Given the description of an element on the screen output the (x, y) to click on. 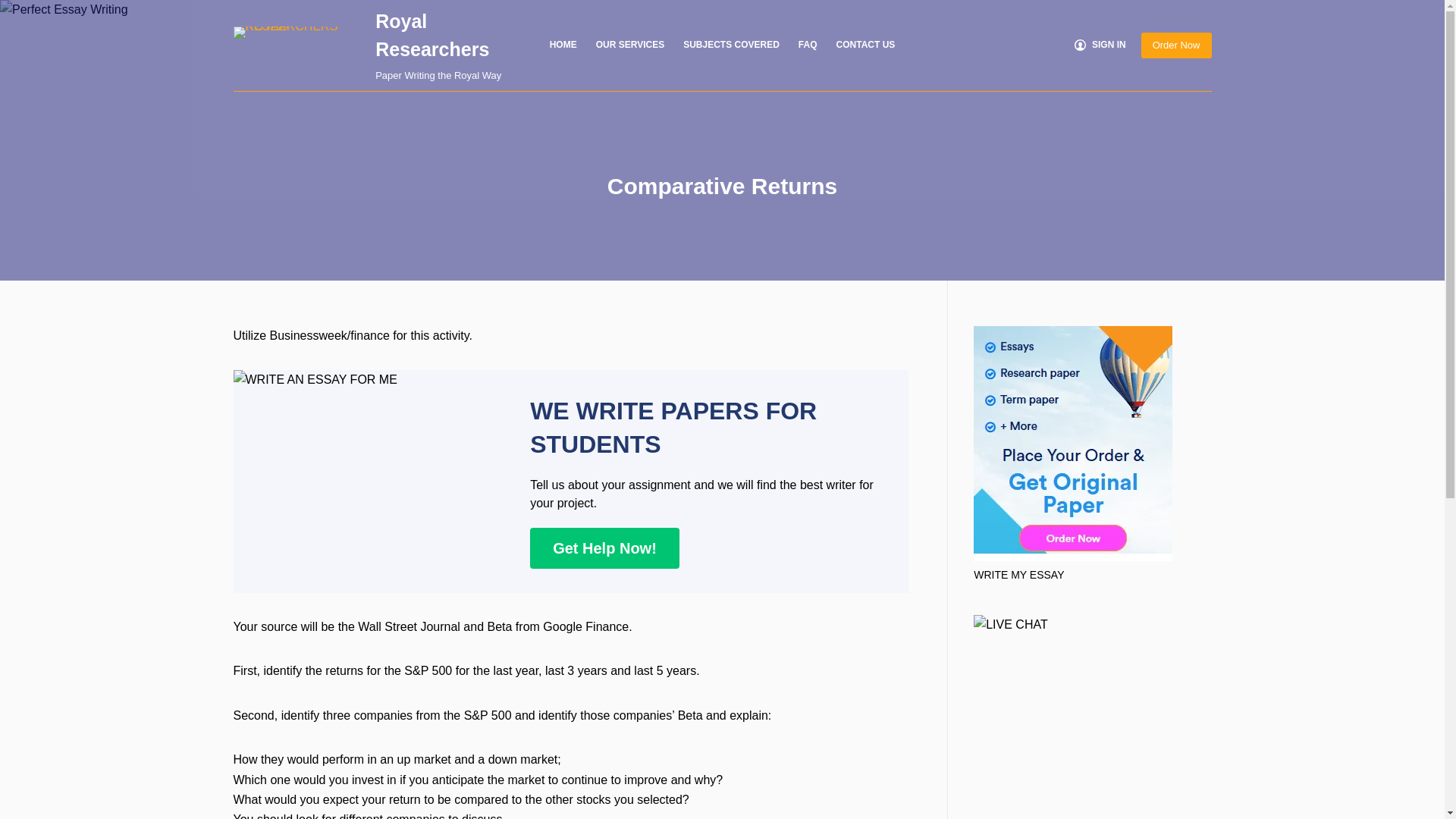
SUBJECTS COVERED (731, 45)
Skip to content (15, 7)
Royal Researchers (432, 35)
SIGN IN (1099, 45)
OUR SERVICES (629, 45)
Order Now (1176, 45)
Get Help Now! (604, 547)
Comparative Returns (722, 185)
